Given the description of an element on the screen output the (x, y) to click on. 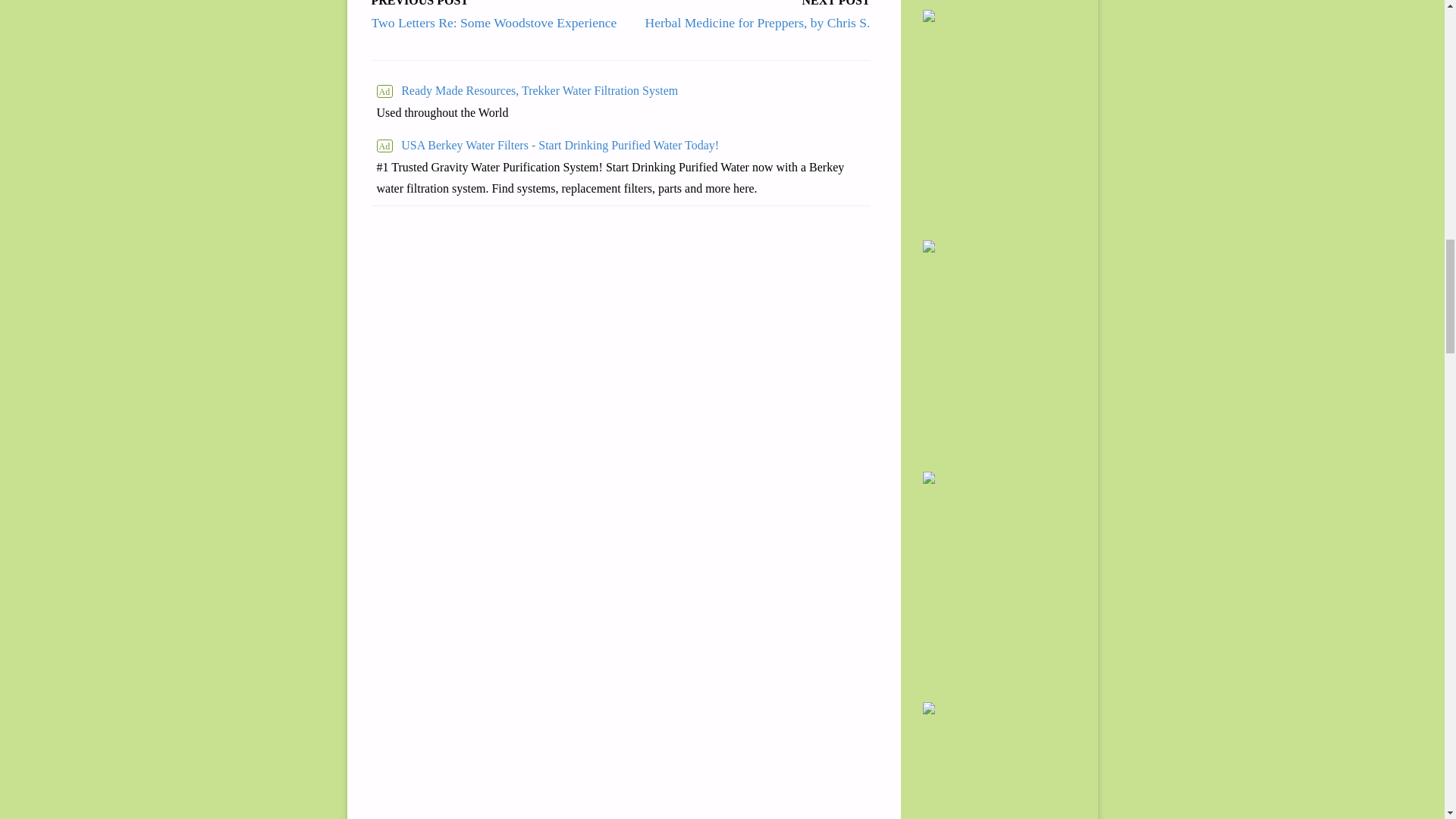
A Portable Water Treatment Plant (526, 91)
Palmetto State Armory (999, 2)
USA Berkey Filters (619, 146)
